Given the description of an element on the screen output the (x, y) to click on. 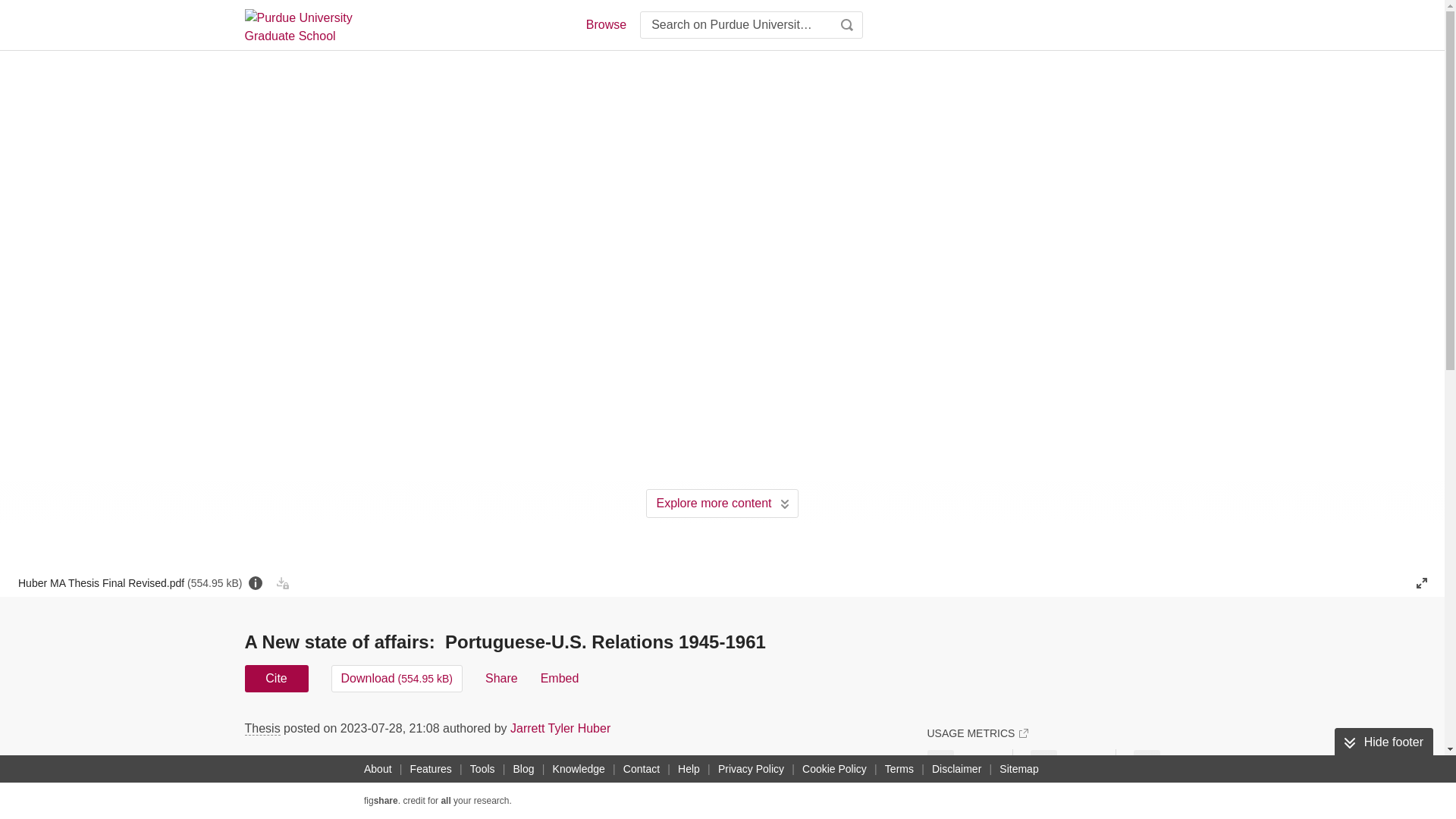
Help (688, 769)
Privacy Policy (751, 769)
Cite (275, 678)
Huber MA Thesis Final Revised.pdf (129, 583)
Features (431, 769)
Share (501, 678)
Blog (523, 769)
Hide footer (1383, 742)
Embed (559, 678)
Contact (640, 769)
Browse (605, 24)
Knowledge (579, 769)
Tools (482, 769)
About (377, 769)
